Given the description of an element on the screen output the (x, y) to click on. 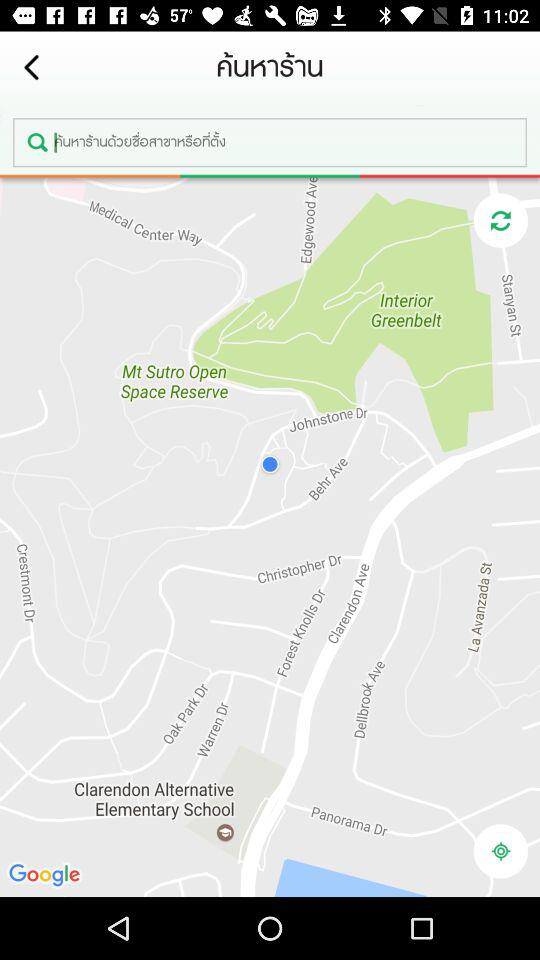
search bar (269, 142)
